Given the description of an element on the screen output the (x, y) to click on. 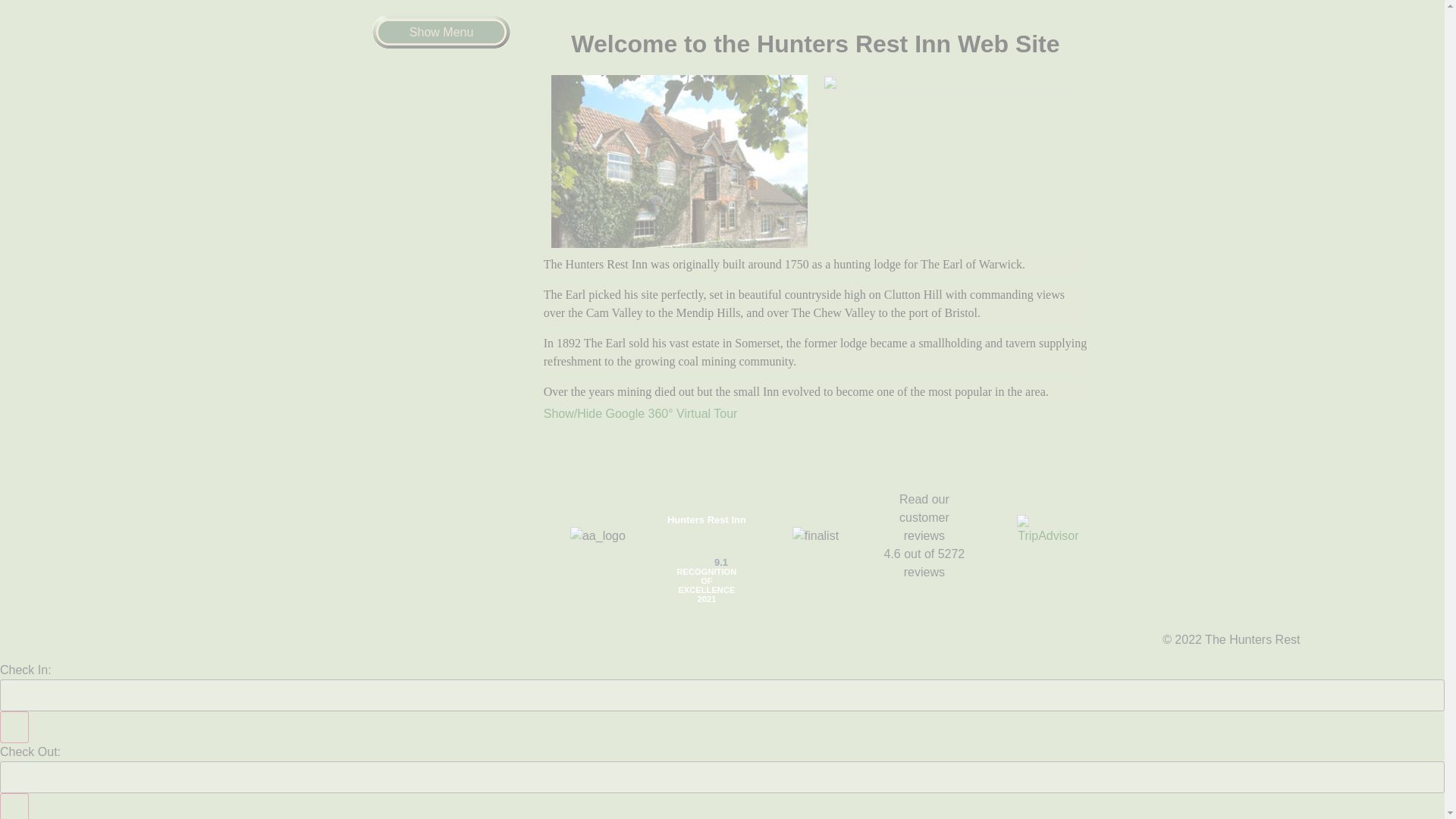
Hunters Rest Inn (706, 520)
finalist (815, 536)
Show Menu (441, 31)
